Given the description of an element on the screen output the (x, y) to click on. 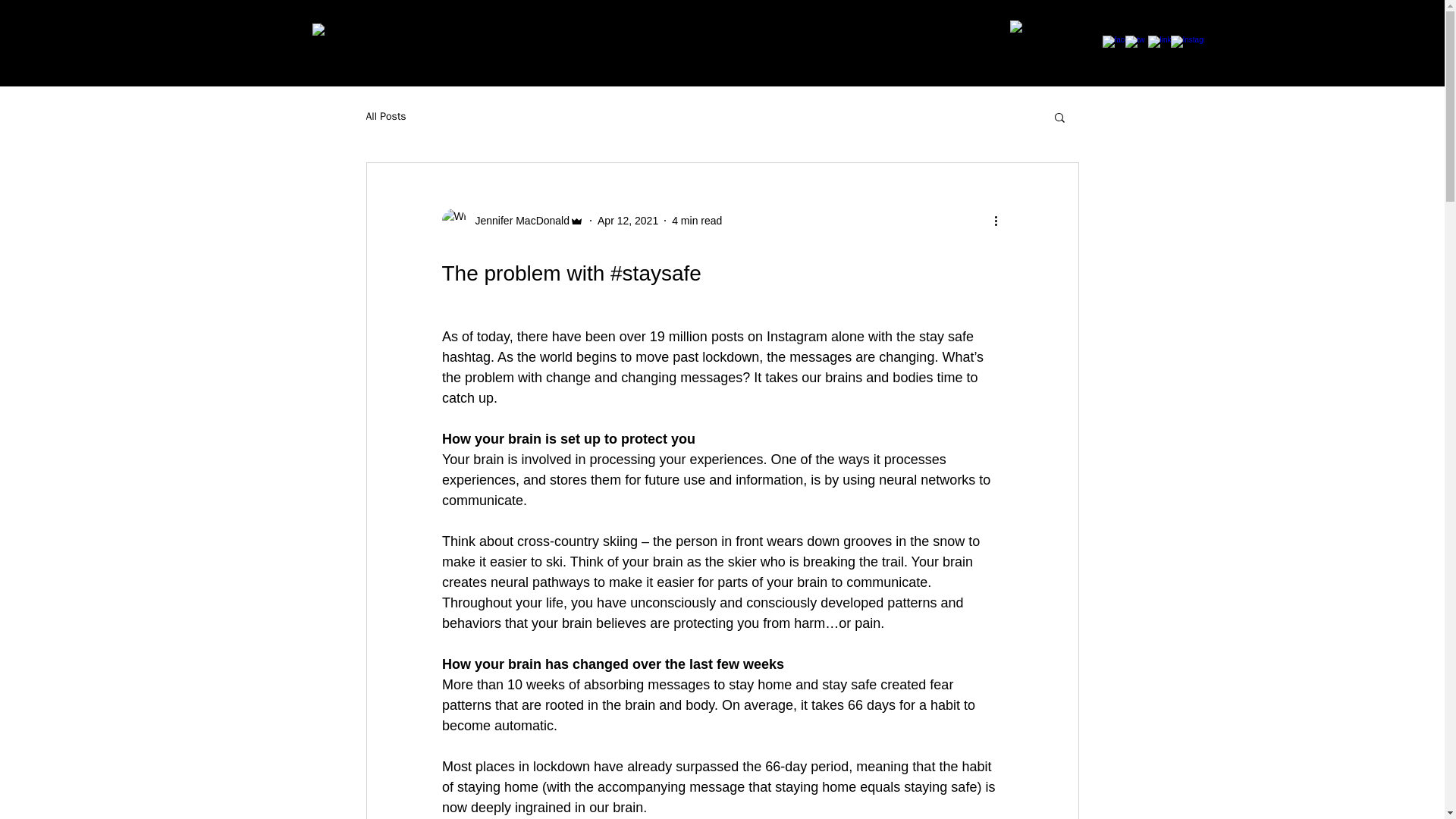
All Posts (385, 116)
4 min read (696, 219)
Apr 12, 2021 (627, 219)
Jennifer MacDonald (512, 220)
Jennifer MacDonald (517, 220)
